Given the description of an element on the screen output the (x, y) to click on. 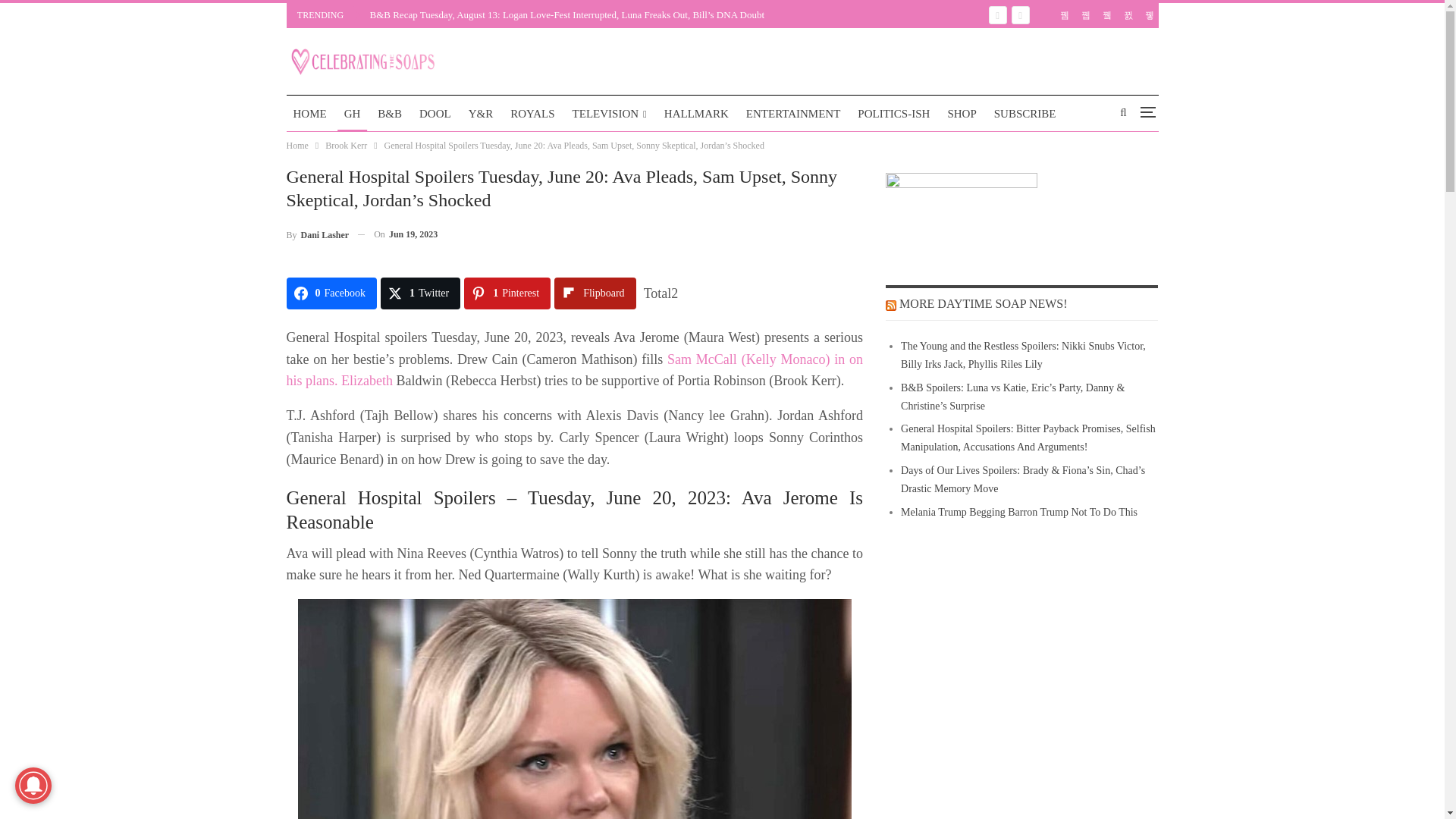
Share on Facebook (331, 293)
Share on Twitter (420, 293)
Browse Author Articles (317, 234)
Share on Flipboard (594, 293)
Share on Pinterest (507, 293)
ROYALS (531, 113)
TELEVISION (609, 113)
Total (660, 293)
HOME (309, 113)
DOOL (435, 113)
